Given the description of an element on the screen output the (x, y) to click on. 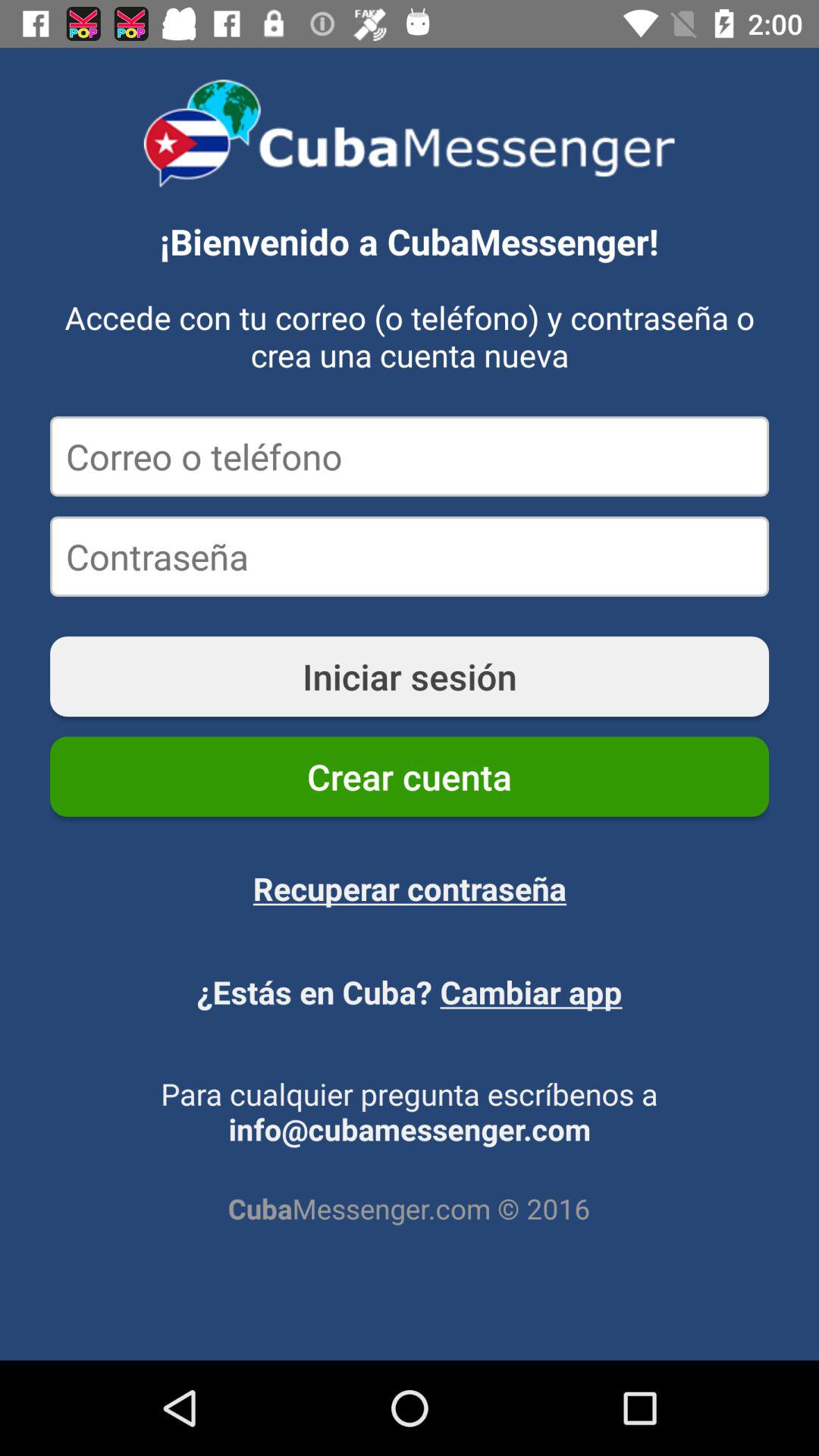
select the item below crear cuenta icon (409, 888)
